Given the description of an element on the screen output the (x, y) to click on. 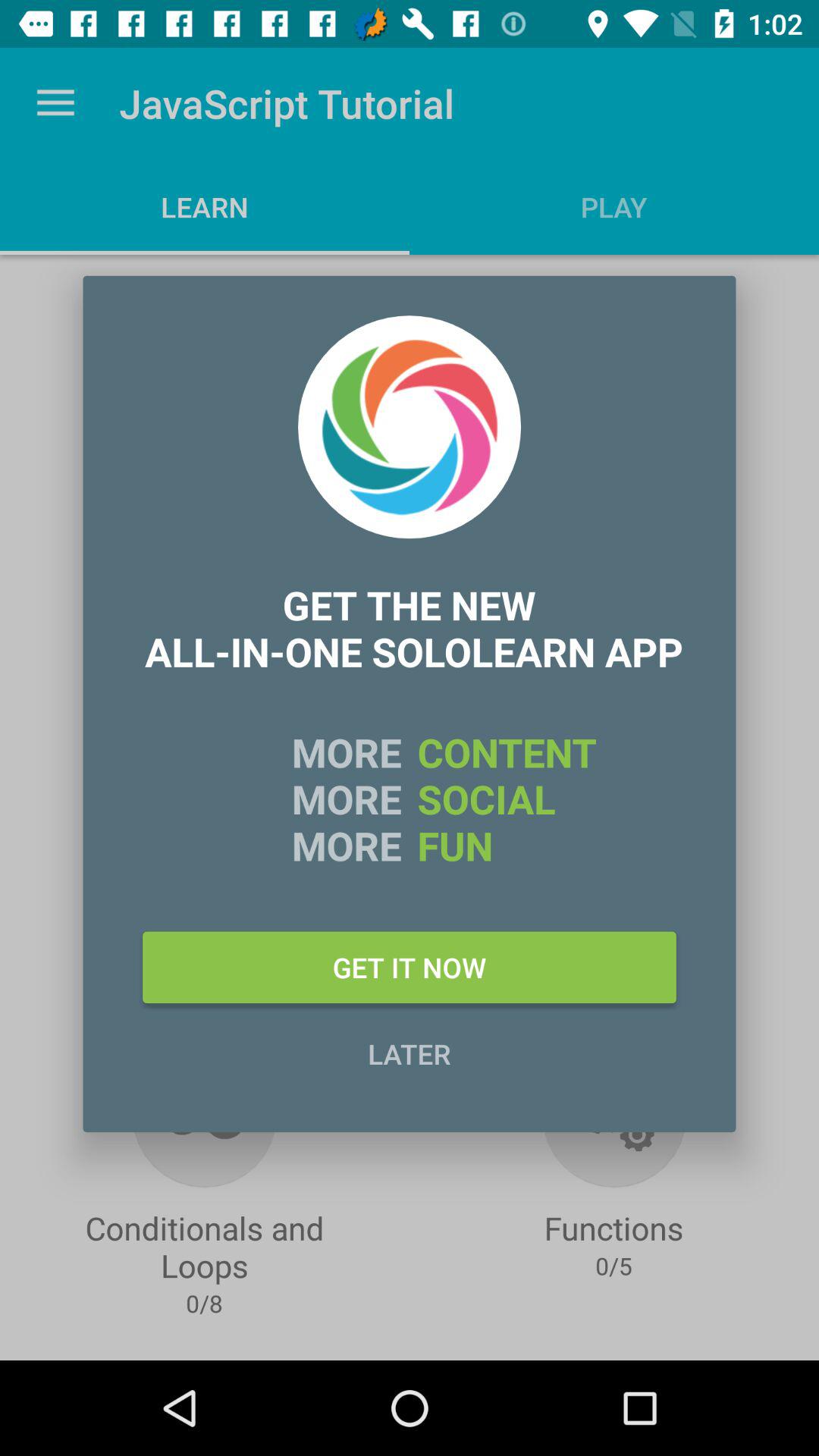
tap later icon (409, 1053)
